Given the description of an element on the screen output the (x, y) to click on. 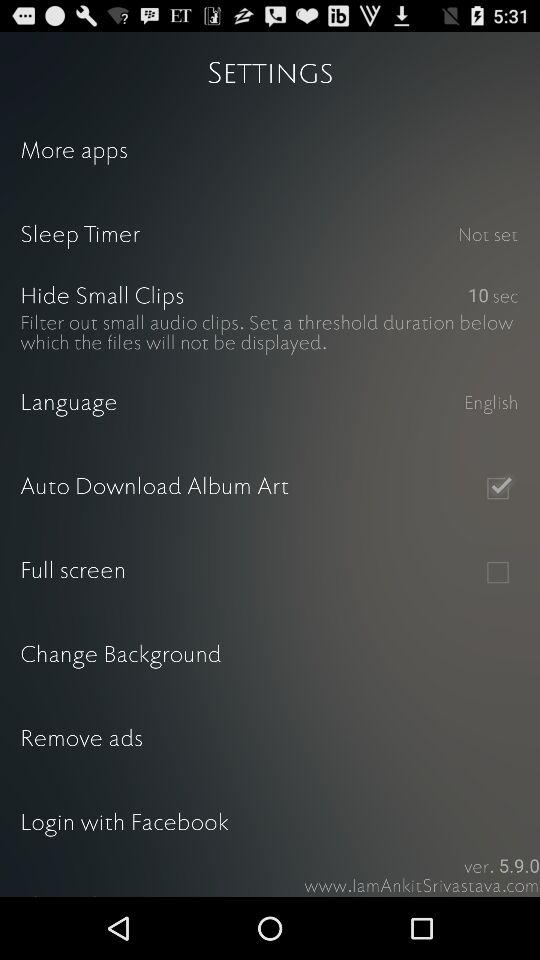
turn on the icon above sleep timer item (270, 152)
